Given the description of an element on the screen output the (x, y) to click on. 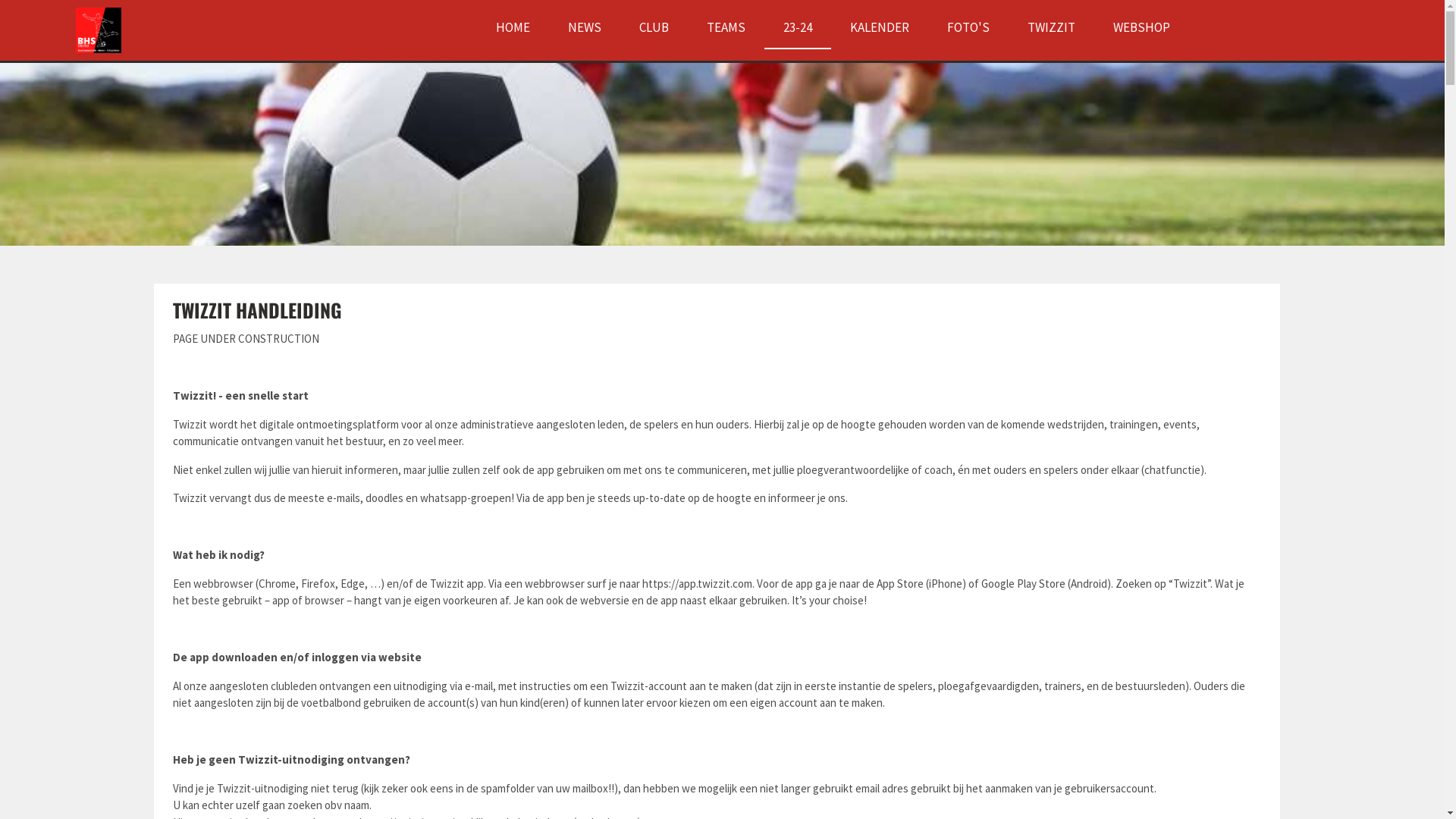
WEBSHOP Element type: text (1141, 27)
FOTO'S Element type: text (967, 27)
TWIZZIT Element type: text (1050, 27)
KALENDER Element type: text (878, 27)
TWIZZIT HANDLEIDING Element type: text (257, 309)
HOME Element type: text (512, 27)
https://app.twizzit.com Element type: text (696, 583)
CLUB Element type: text (653, 27)
TEAMS Element type: text (725, 27)
NEWS Element type: text (583, 27)
23-24 Element type: text (796, 27)
